Given the description of an element on the screen output the (x, y) to click on. 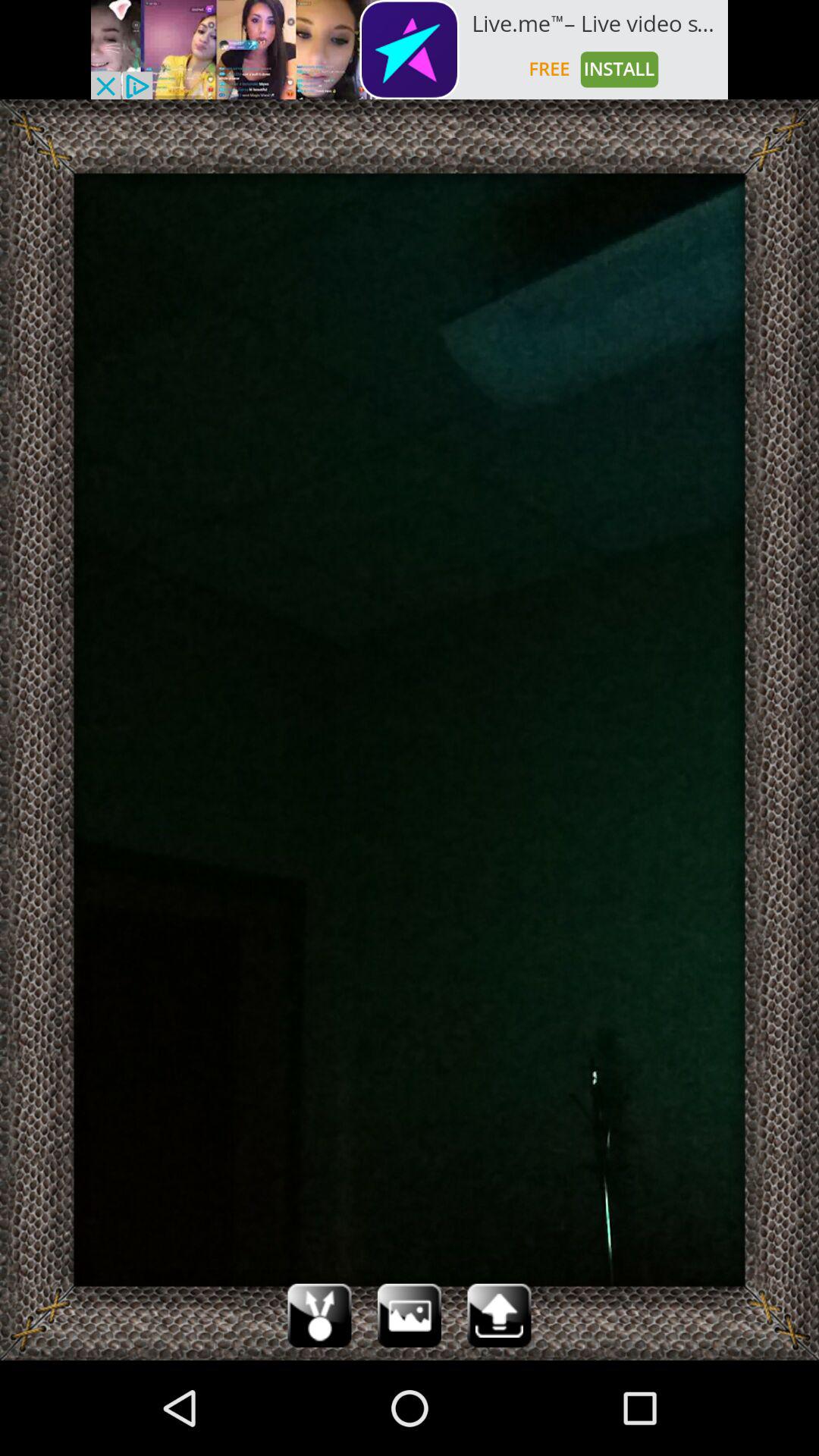
go to image gallery (409, 1315)
